Given the description of an element on the screen output the (x, y) to click on. 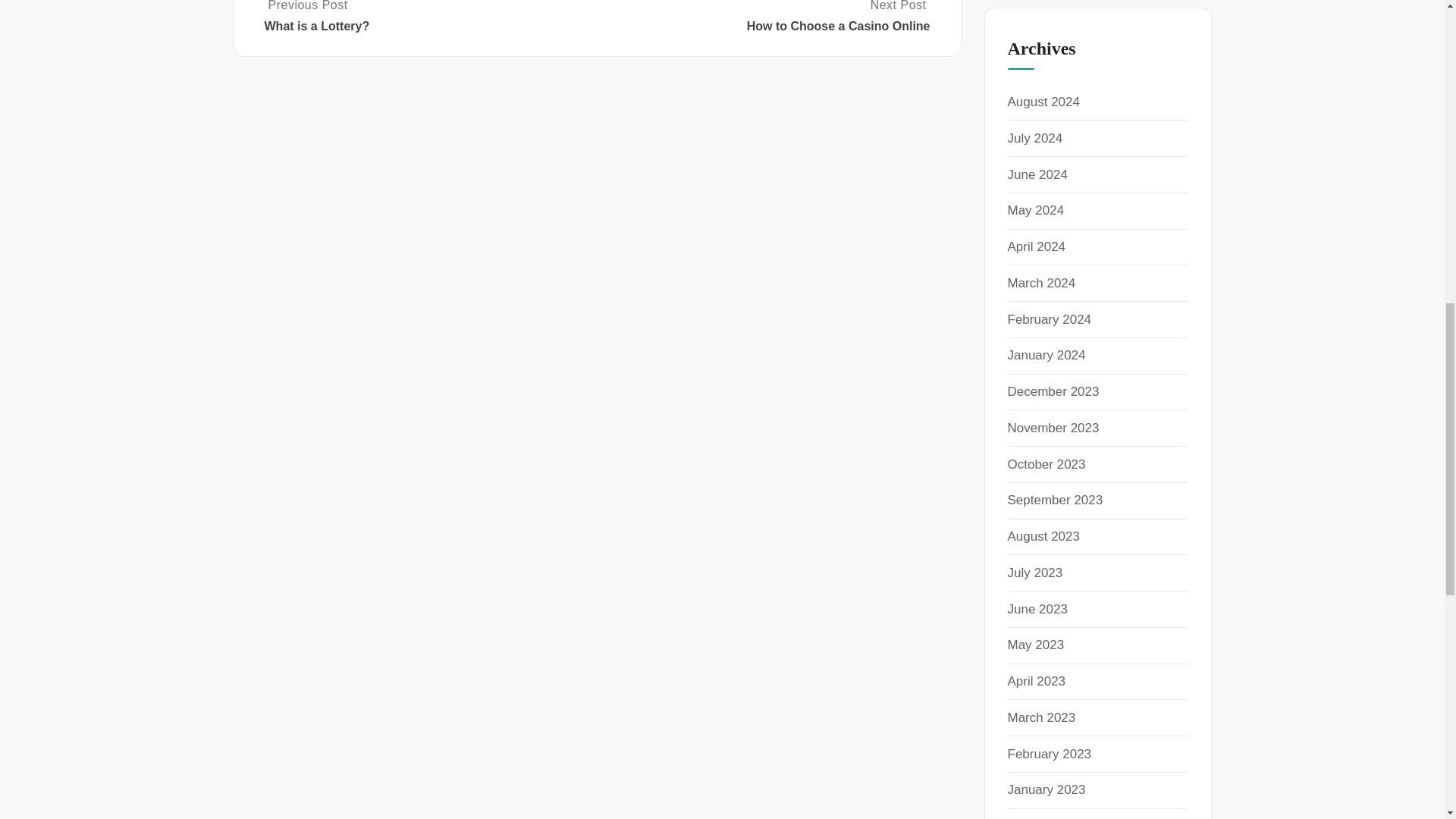
April 2023 (1036, 681)
June 2023 (1037, 608)
June 2024 (1037, 174)
September 2023 (1054, 499)
December 2023 (1053, 391)
February 2023 (1048, 753)
November 2023 (1053, 427)
January 2024 (1045, 355)
October 2023 (1045, 464)
May 2024 (1035, 210)
